Given the description of an element on the screen output the (x, y) to click on. 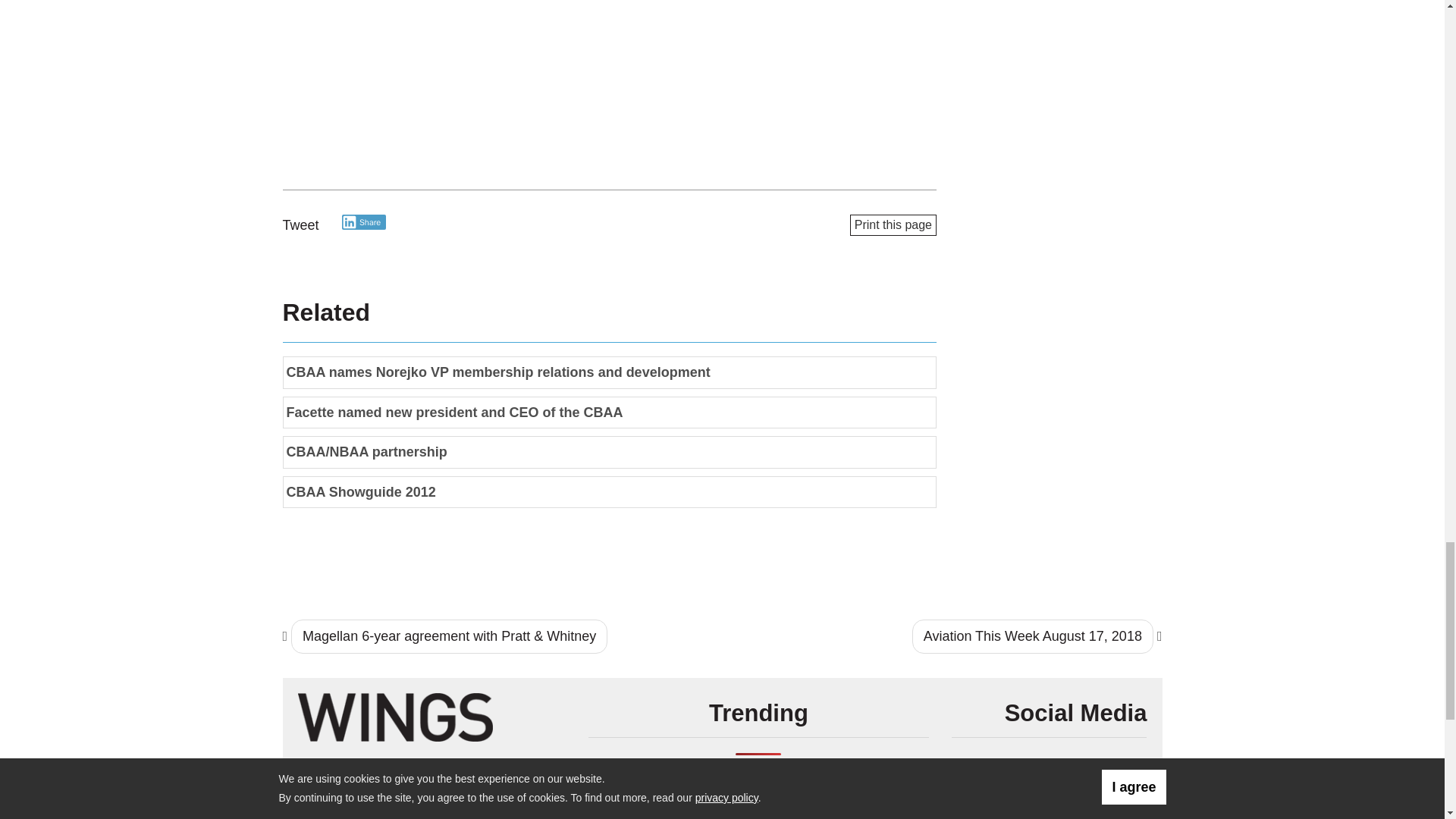
Wings Magazine (395, 716)
